Given the description of an element on the screen output the (x, y) to click on. 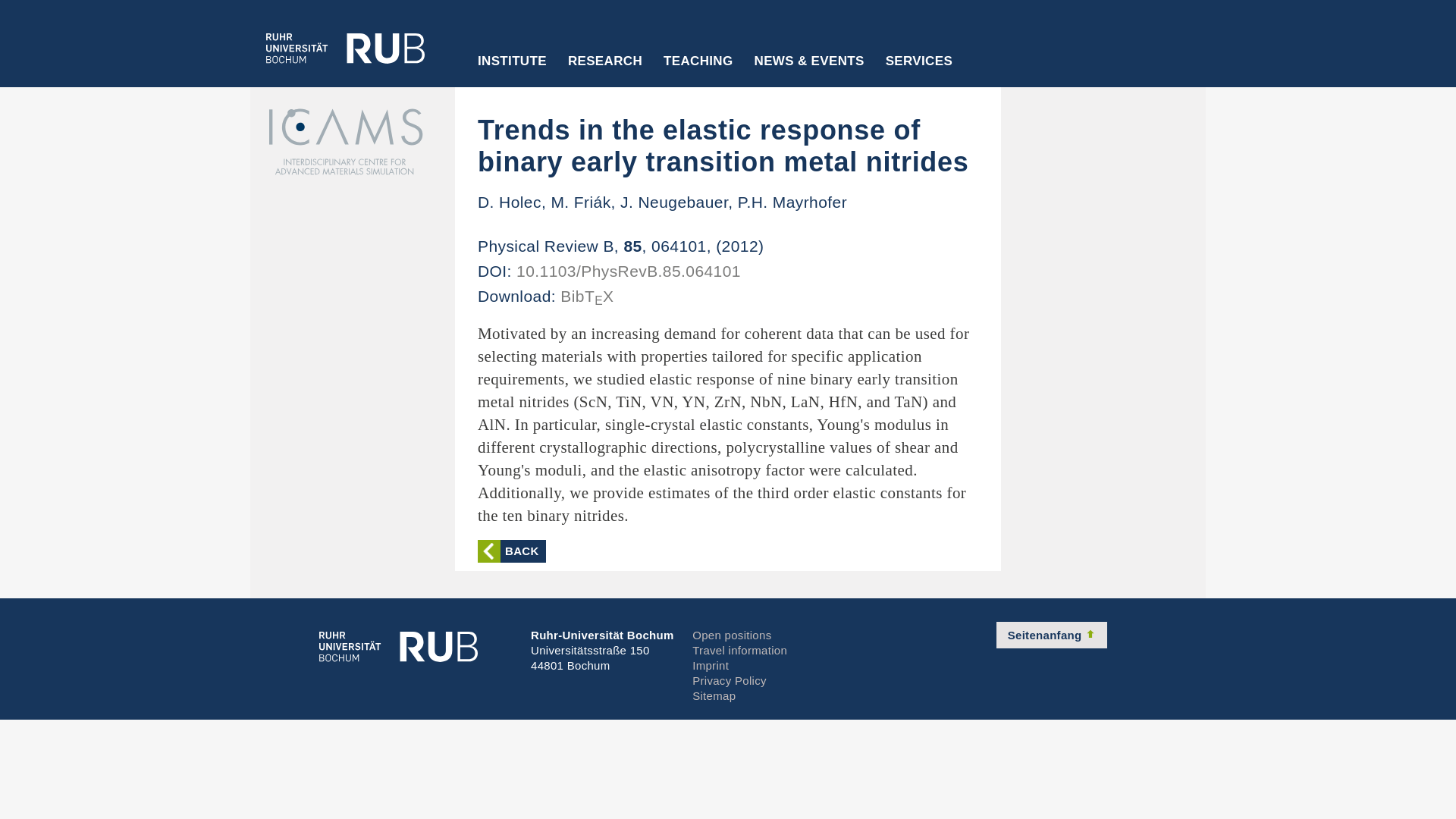
RESEARCH (604, 70)
TEACHING (698, 70)
INSTITUTE (512, 70)
